Given the description of an element on the screen output the (x, y) to click on. 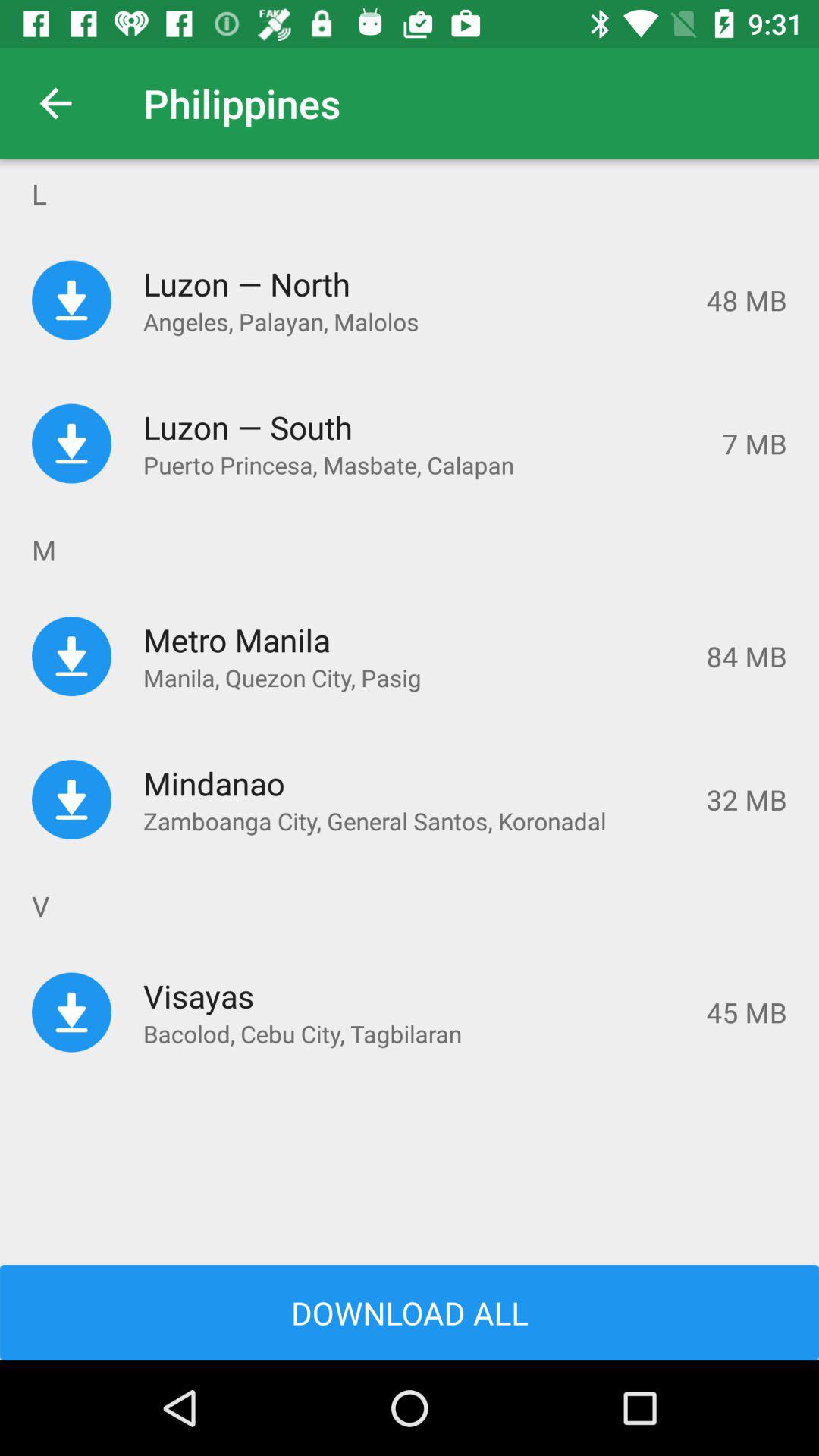
click on the first download icon from the left of the page (71, 300)
